Given the description of an element on the screen output the (x, y) to click on. 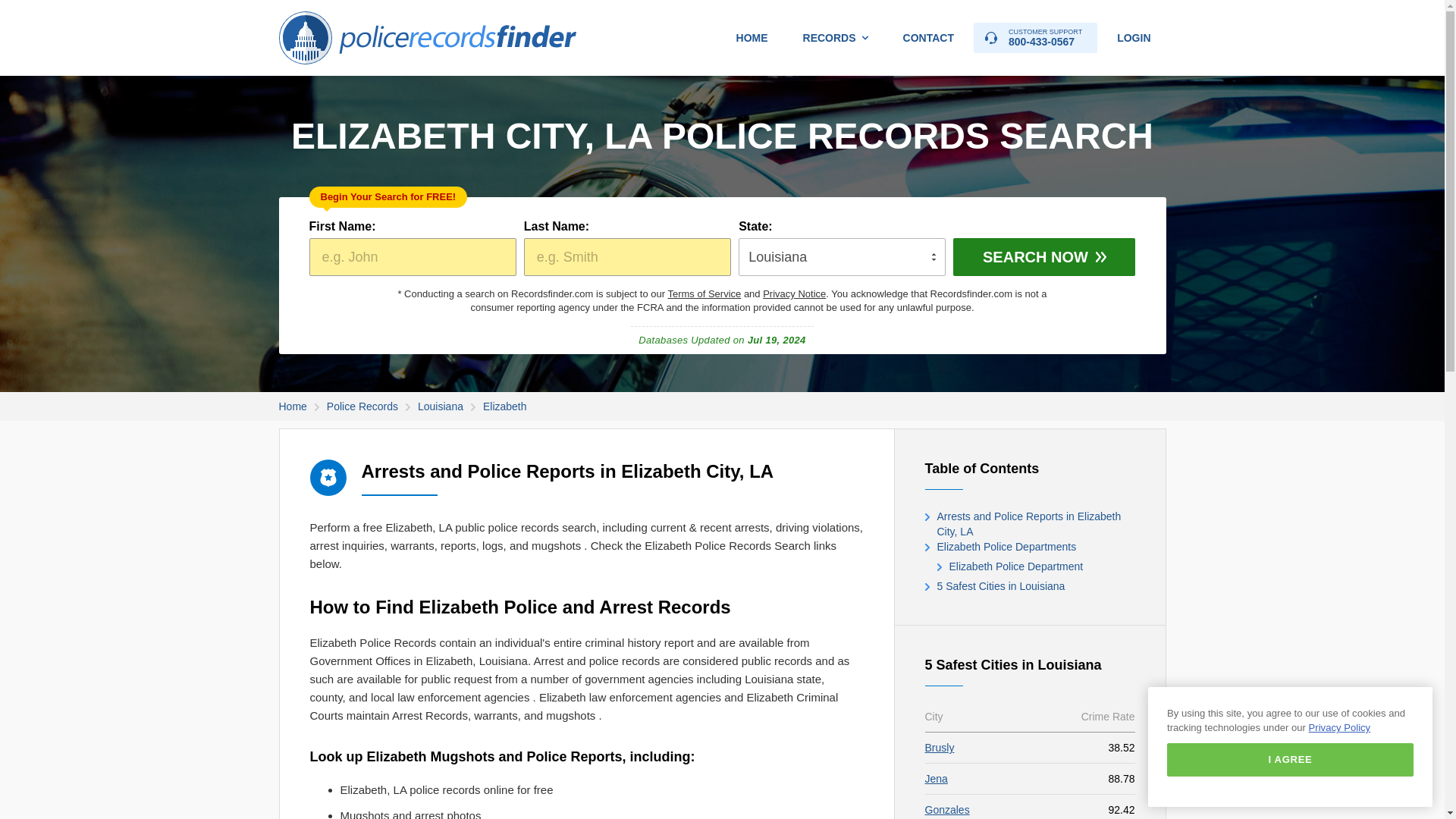
RECORDS (835, 37)
HOME (751, 37)
